Given the description of an element on the screen output the (x, y) to click on. 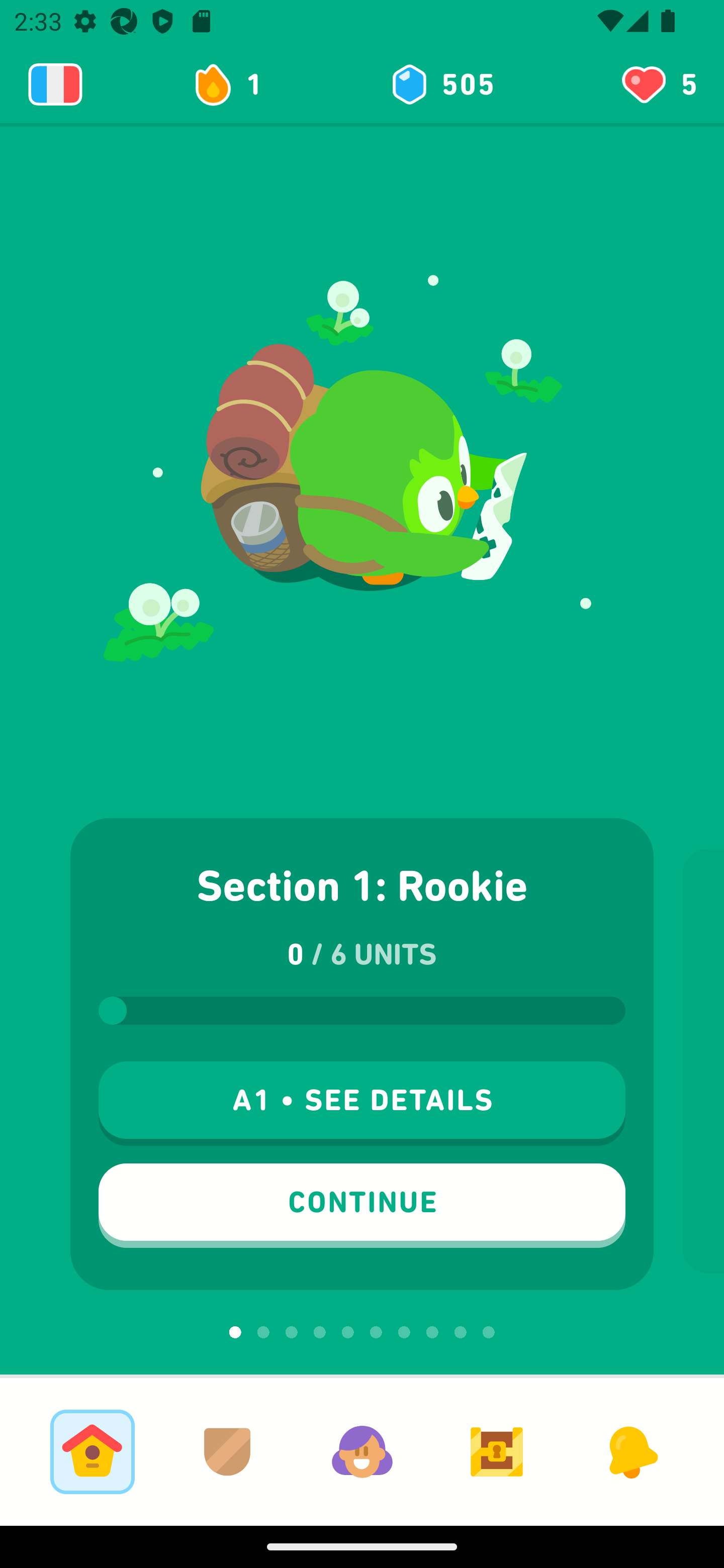
Learning 2131888976 (55, 84)
1 day streak 1 (236, 84)
505 (441, 84)
You have 5 hearts left 5 (657, 84)
A1 • SEE DETAILS (361, 1103)
CONTINUE (361, 1205)
Learn Tab (91, 1451)
Leagues Tab (227, 1451)
Profile Tab (361, 1451)
Goals Tab (496, 1451)
News Tab (631, 1451)
